Given the description of an element on the screen output the (x, y) to click on. 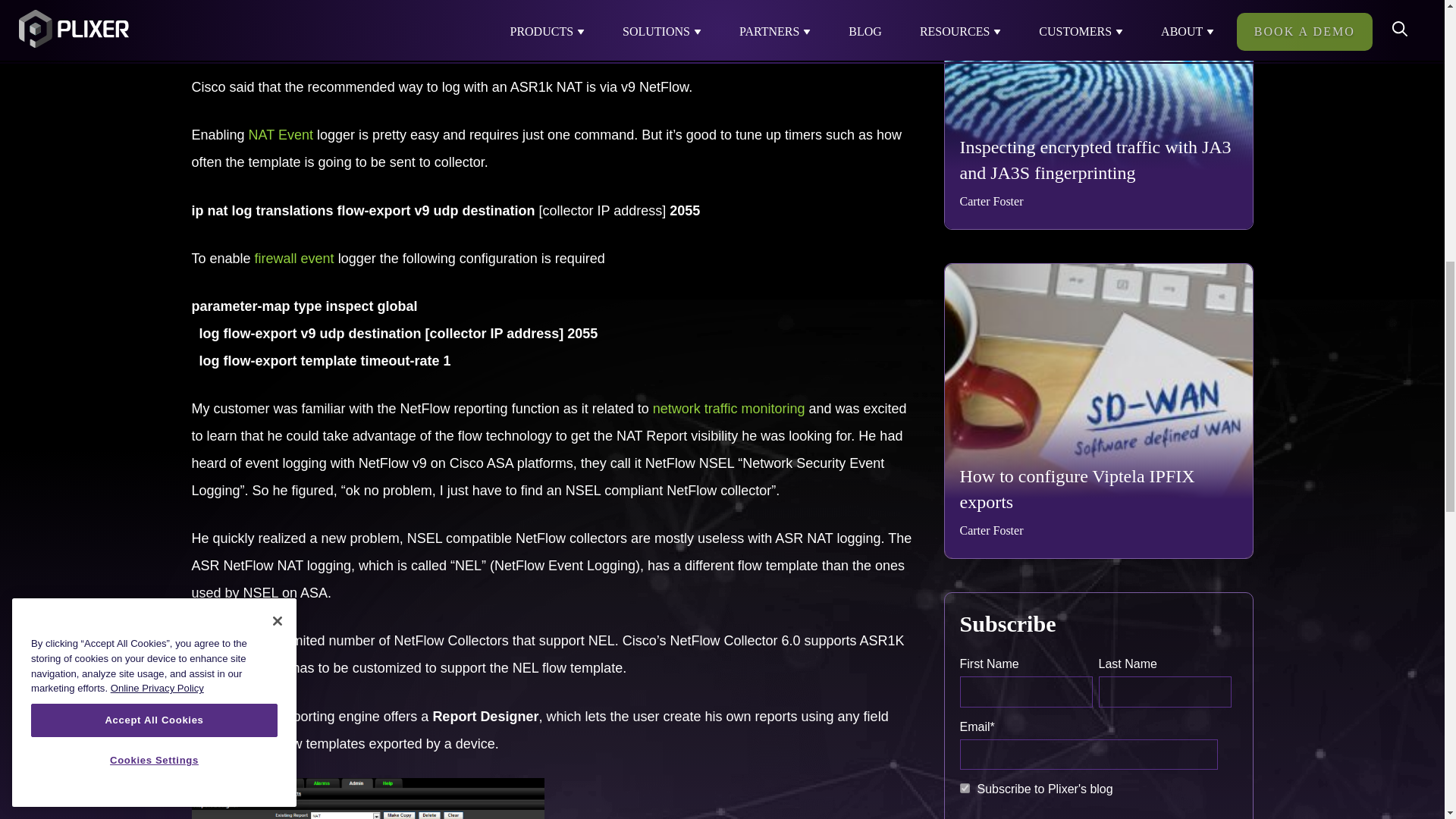
NAT Translation Logging (280, 134)
Advanced Network Report Designer (366, 798)
Cisco ASR: NetFlow Configuration  (728, 408)
true (964, 787)
Network Event Log Management: NetFlow Export  (294, 258)
